Given the description of an element on the screen output the (x, y) to click on. 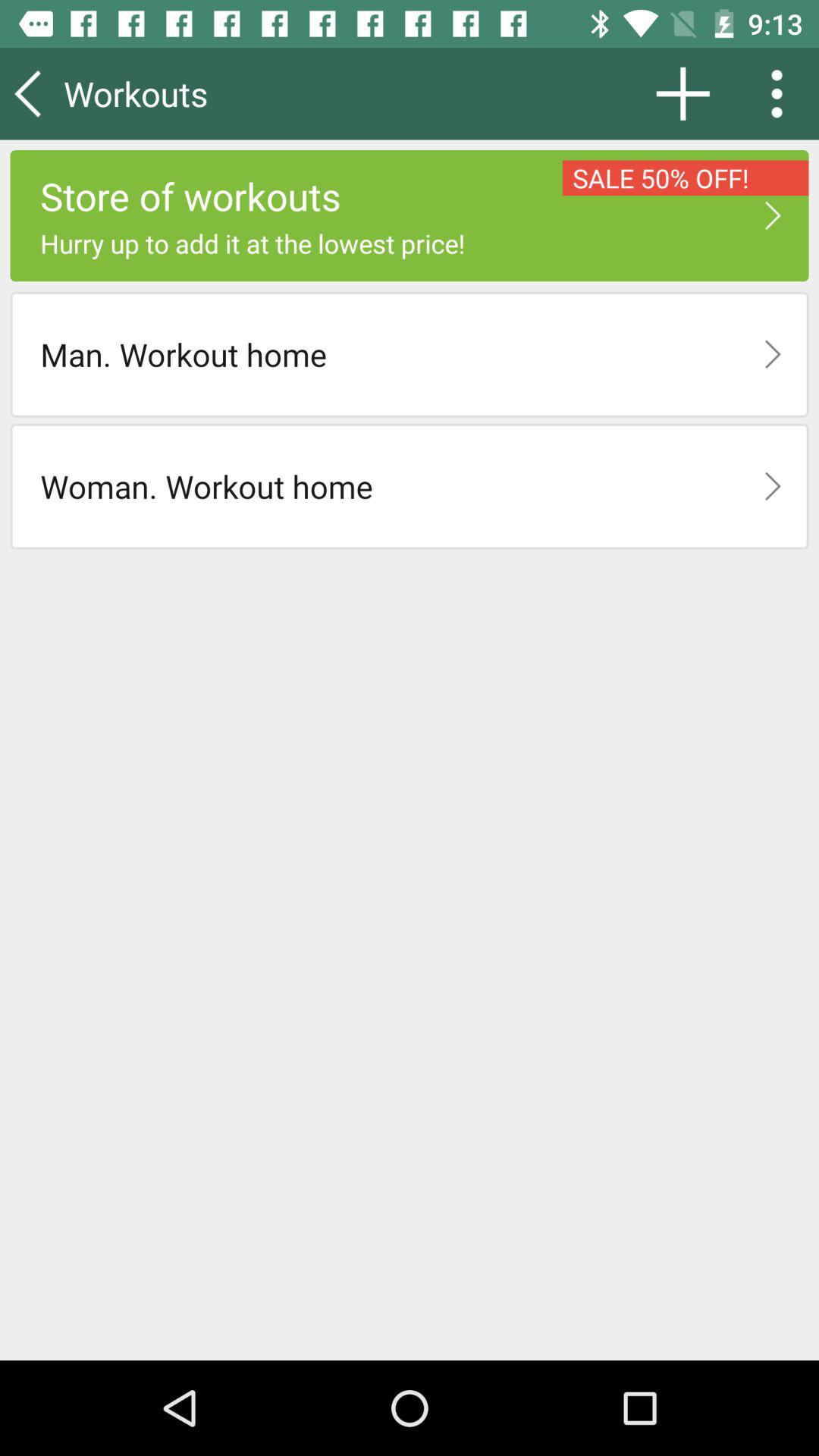
turn off the item above the store of workouts app (682, 93)
